Given the description of an element on the screen output the (x, y) to click on. 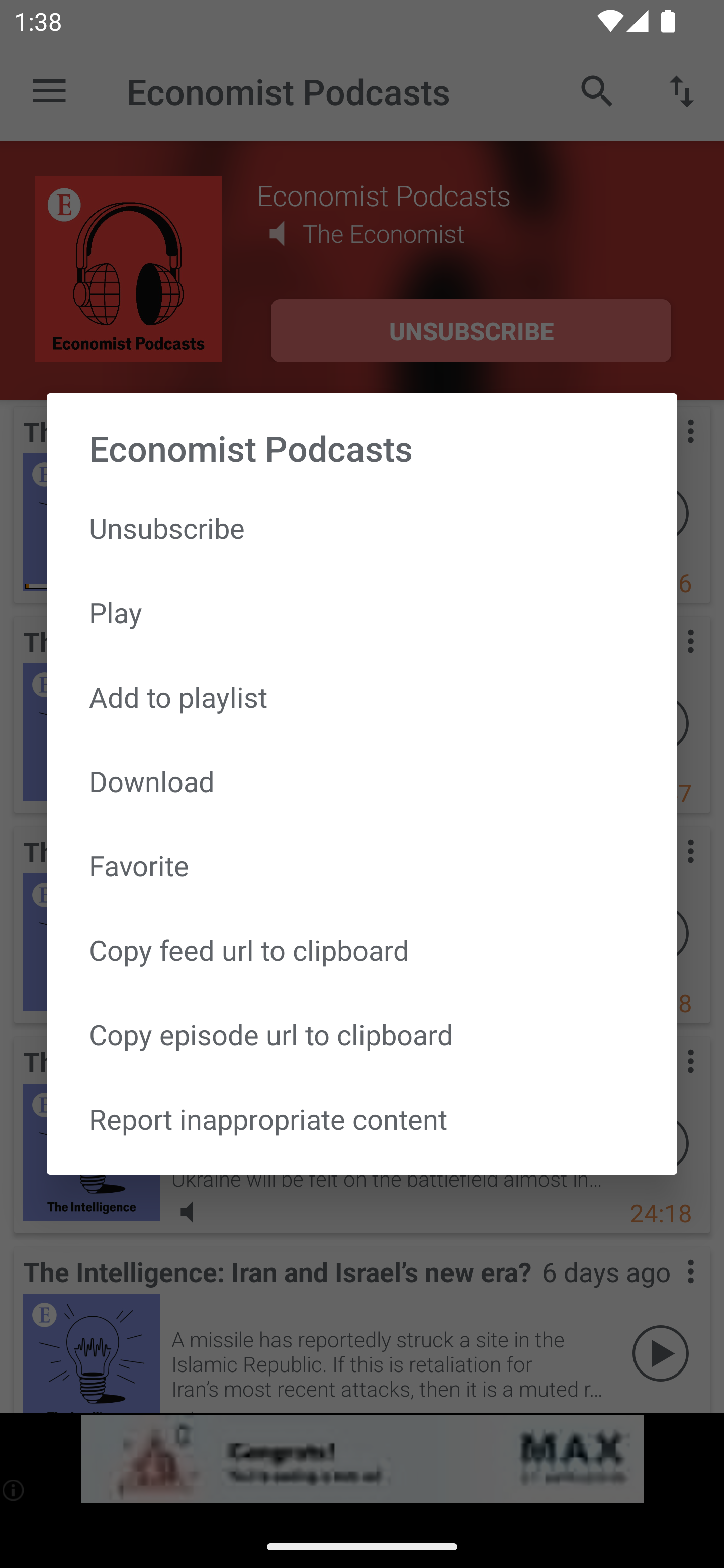
Unsubscribe (361, 527)
Play (361, 611)
Add to playlist (361, 695)
Download (361, 780)
Favorite (361, 865)
Copy feed url to clipboard (361, 949)
Copy episode url to clipboard (361, 1034)
Report inappropriate content (361, 1118)
